Given the description of an element on the screen output the (x, y) to click on. 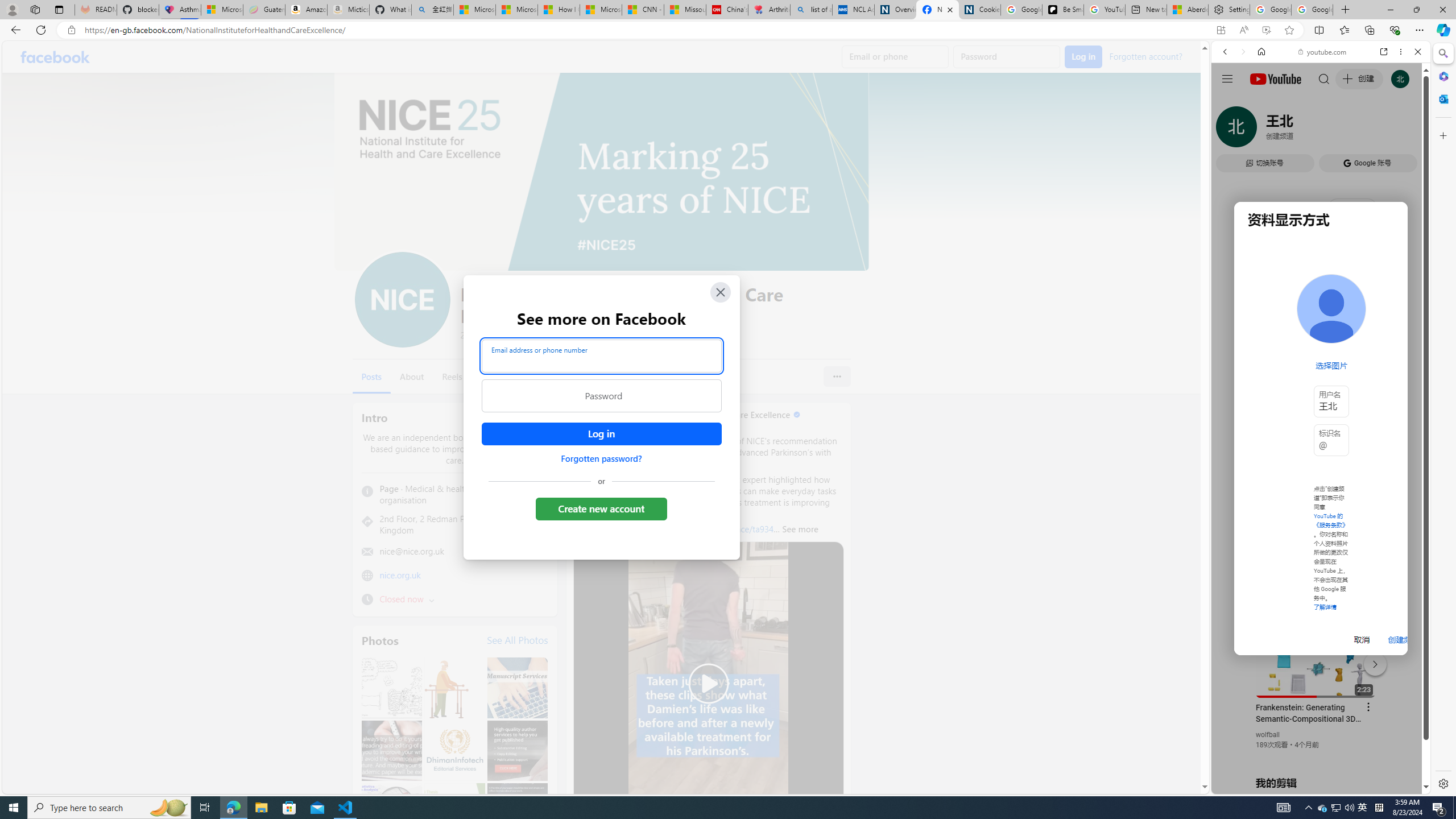
CNN - MSN (642, 9)
Create new account (601, 508)
Facebook (55, 56)
IMAGES (1262, 130)
Arthritis: Ask Health Professionals (769, 9)
Close Customize pane (1442, 135)
